Given the description of an element on the screen output the (x, y) to click on. 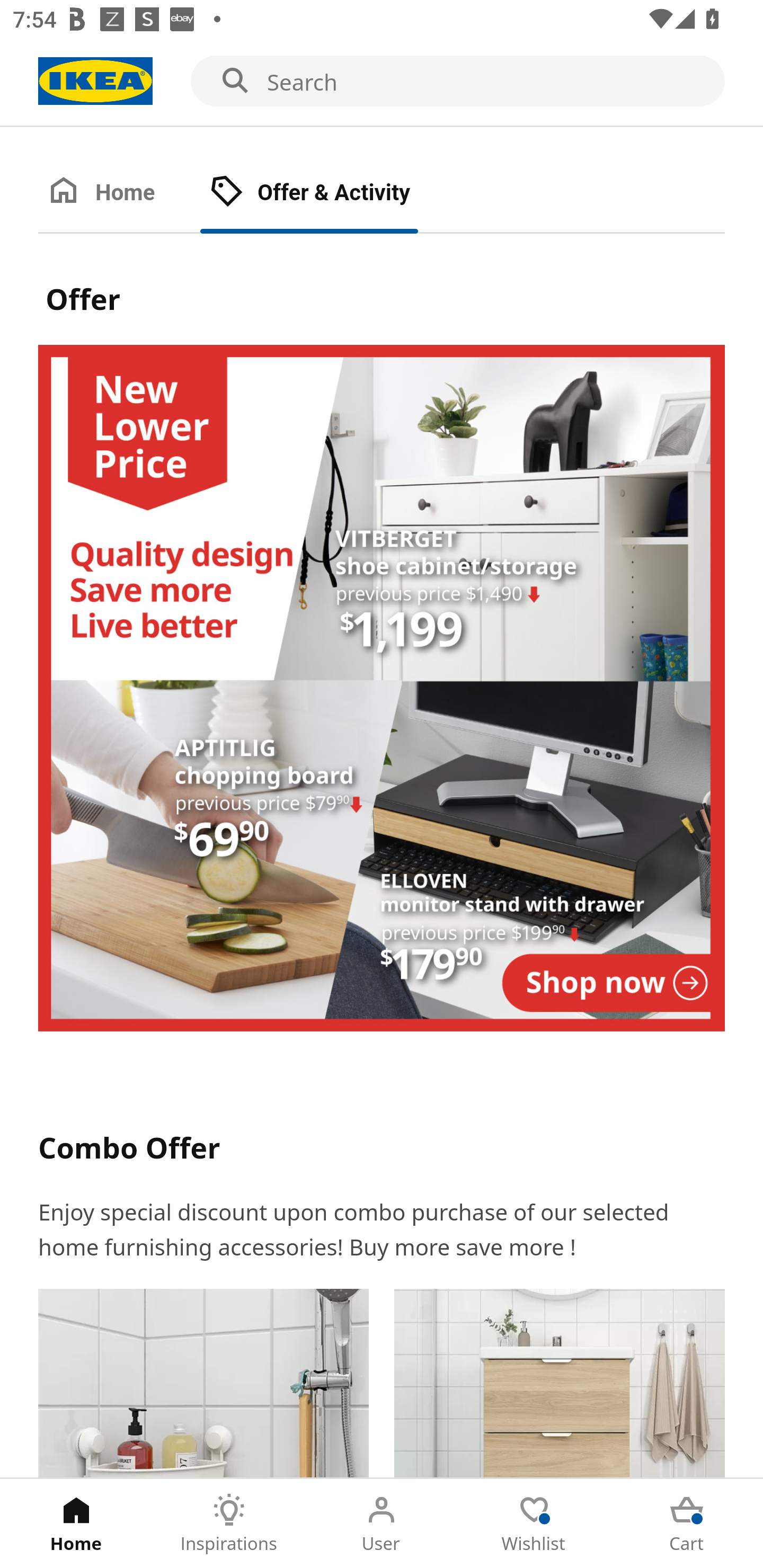
Search (381, 81)
Home
Tab 1 of 2 (118, 192)
Offer & Activity
Tab 2 of 2 (327, 192)
Home
Tab 1 of 5 (76, 1522)
Inspirations
Tab 2 of 5 (228, 1522)
User
Tab 3 of 5 (381, 1522)
Wishlist
Tab 4 of 5 (533, 1522)
Cart
Tab 5 of 5 (686, 1522)
